Given the description of an element on the screen output the (x, y) to click on. 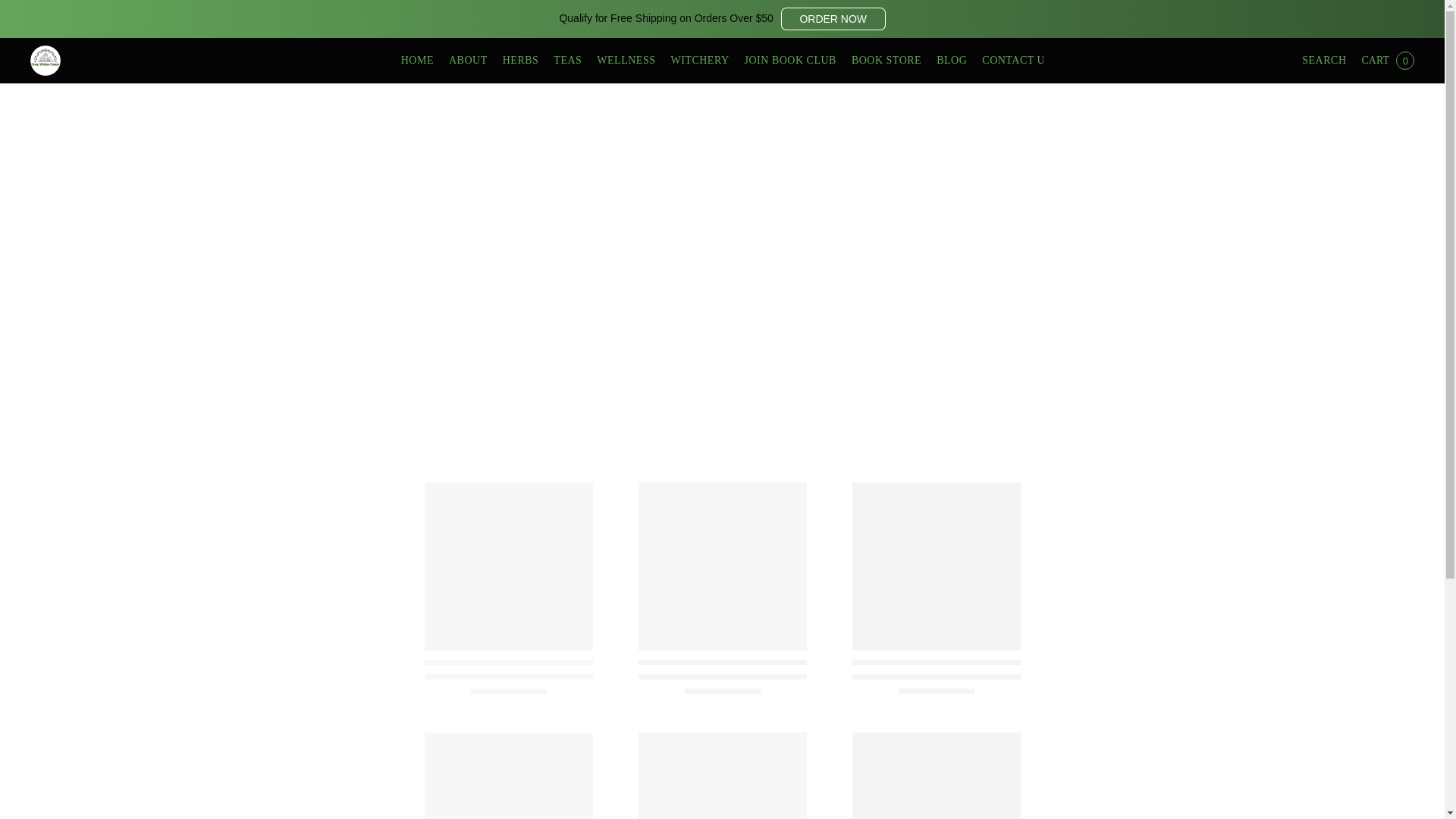
ORDER NOW (832, 18)
SEARCH (1323, 60)
CART (1387, 60)
HOME (421, 60)
ABOUT (468, 60)
BOOK STORE (886, 60)
WITCHERY (699, 60)
BLOG (951, 60)
Search the website (1323, 60)
WELLNESS (625, 60)
CONTACT US (1012, 60)
HERBS (521, 60)
TEAS (567, 60)
JOIN BOOK CLUB (790, 60)
